Given the description of an element on the screen output the (x, y) to click on. 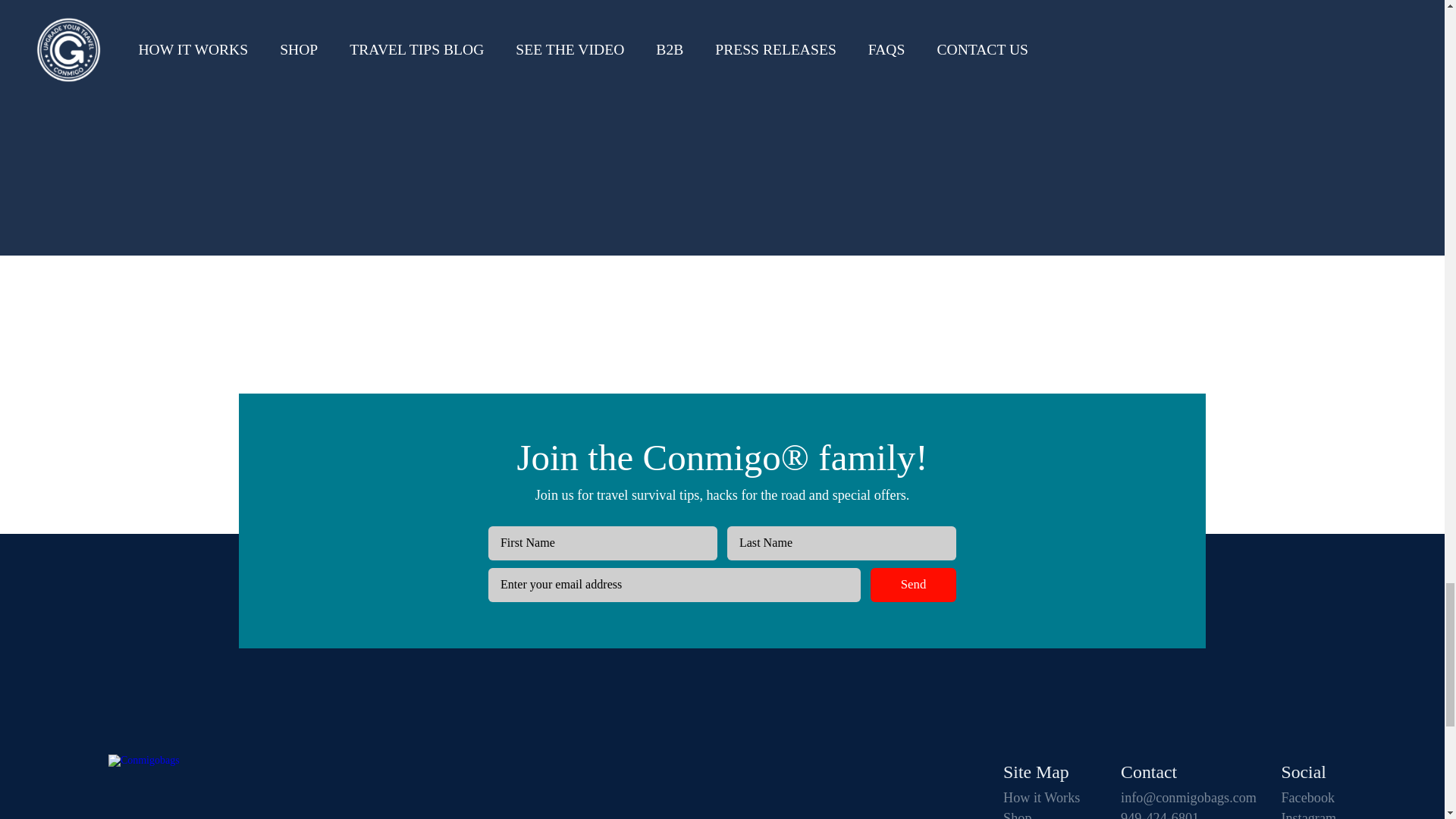
Shop (1049, 815)
Send (913, 584)
How it Works (1049, 797)
Send (913, 584)
